Given the description of an element on the screen output the (x, y) to click on. 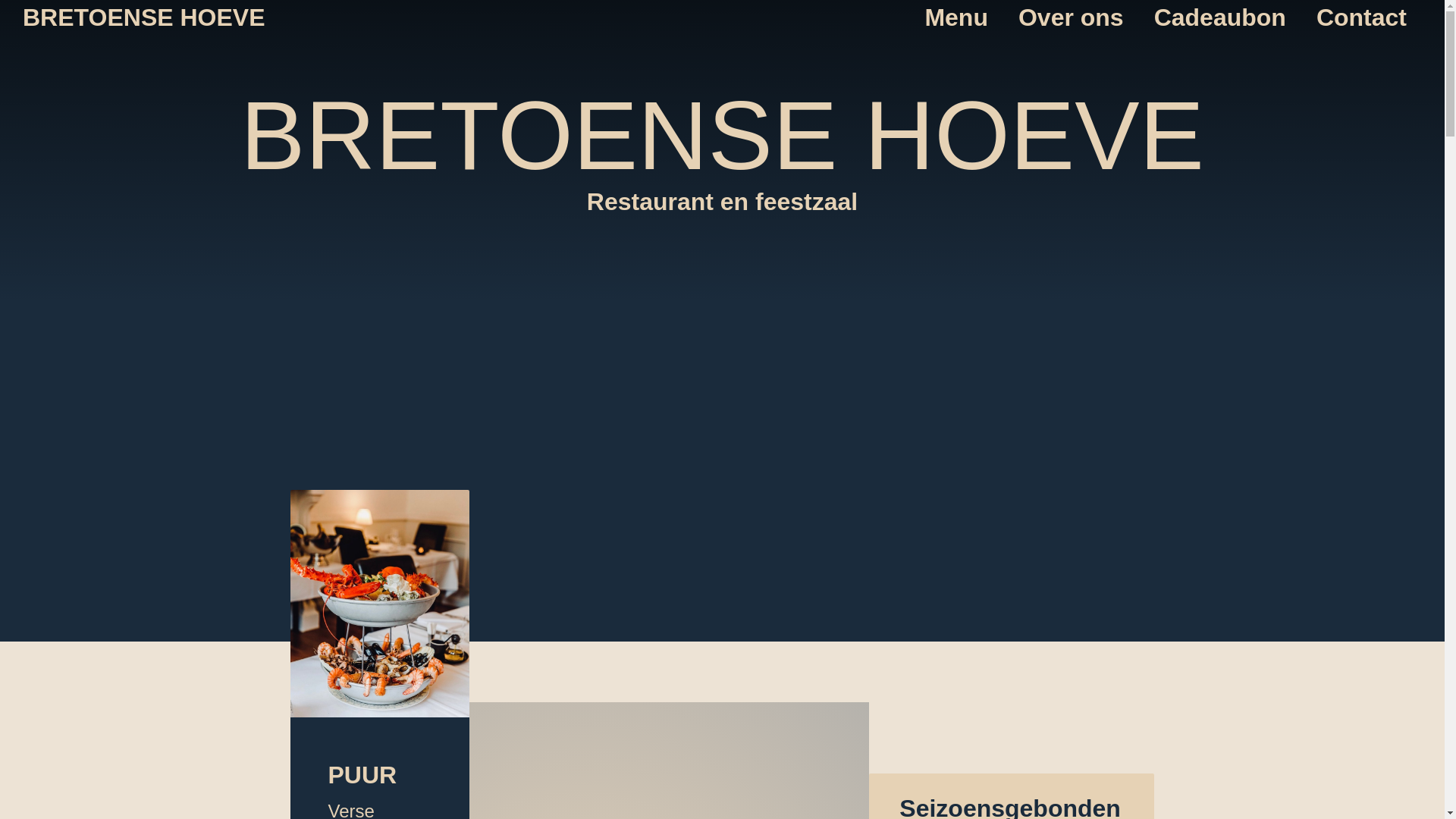
Over ons Element type: text (1071, 17)
Menu Element type: text (956, 17)
Contact Element type: text (1361, 17)
BRETOENSE HOEVE Element type: text (143, 17)
Cadeaubon Element type: text (1220, 17)
